Given the description of an element on the screen output the (x, y) to click on. 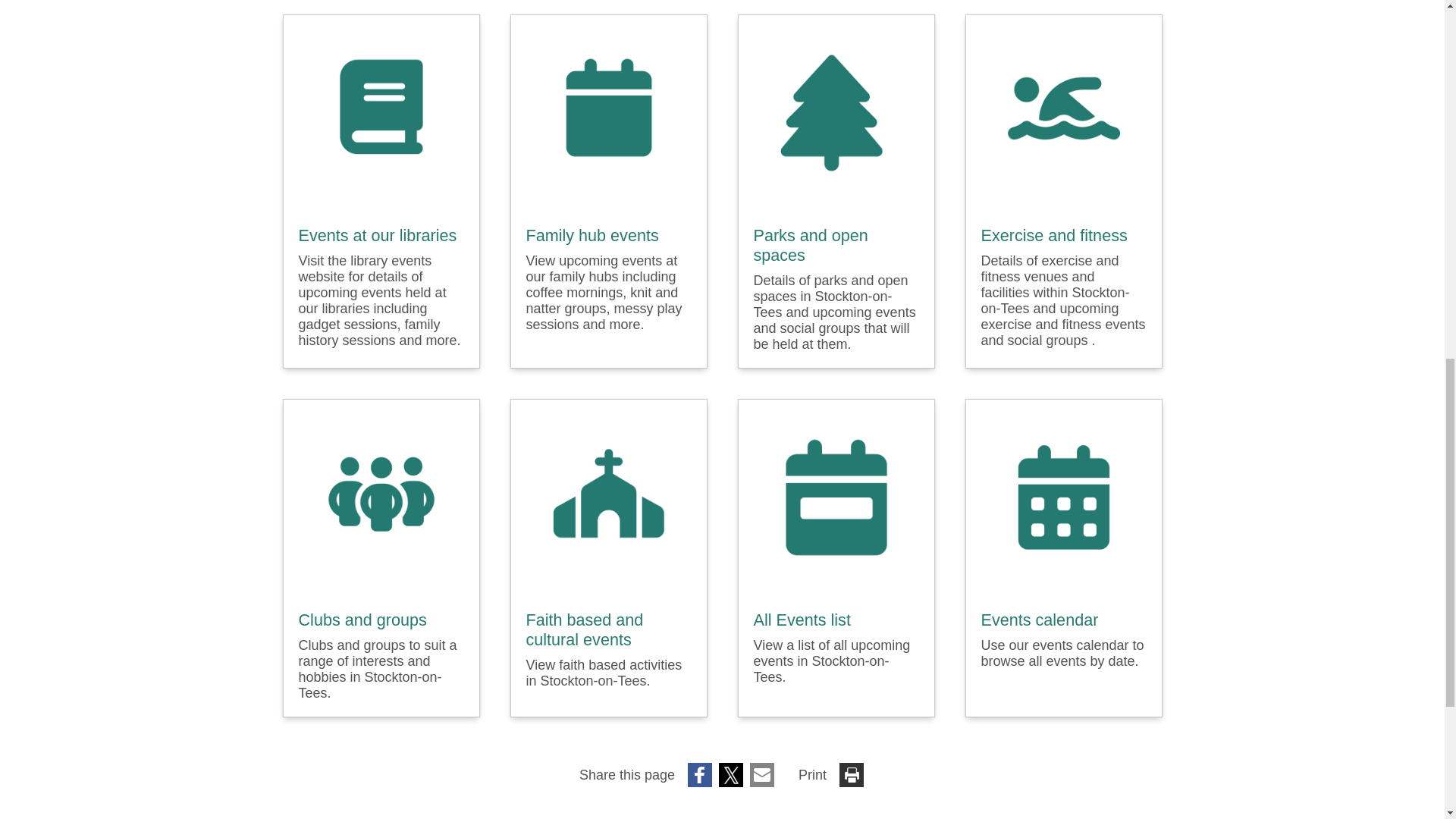
Parks and open spaces (836, 245)
Family hub events (592, 235)
Exercise and fitness (1053, 235)
Events at our libraries (377, 235)
Faith based and cultural events (608, 630)
Clubs and groups (362, 619)
